Given the description of an element on the screen output the (x, y) to click on. 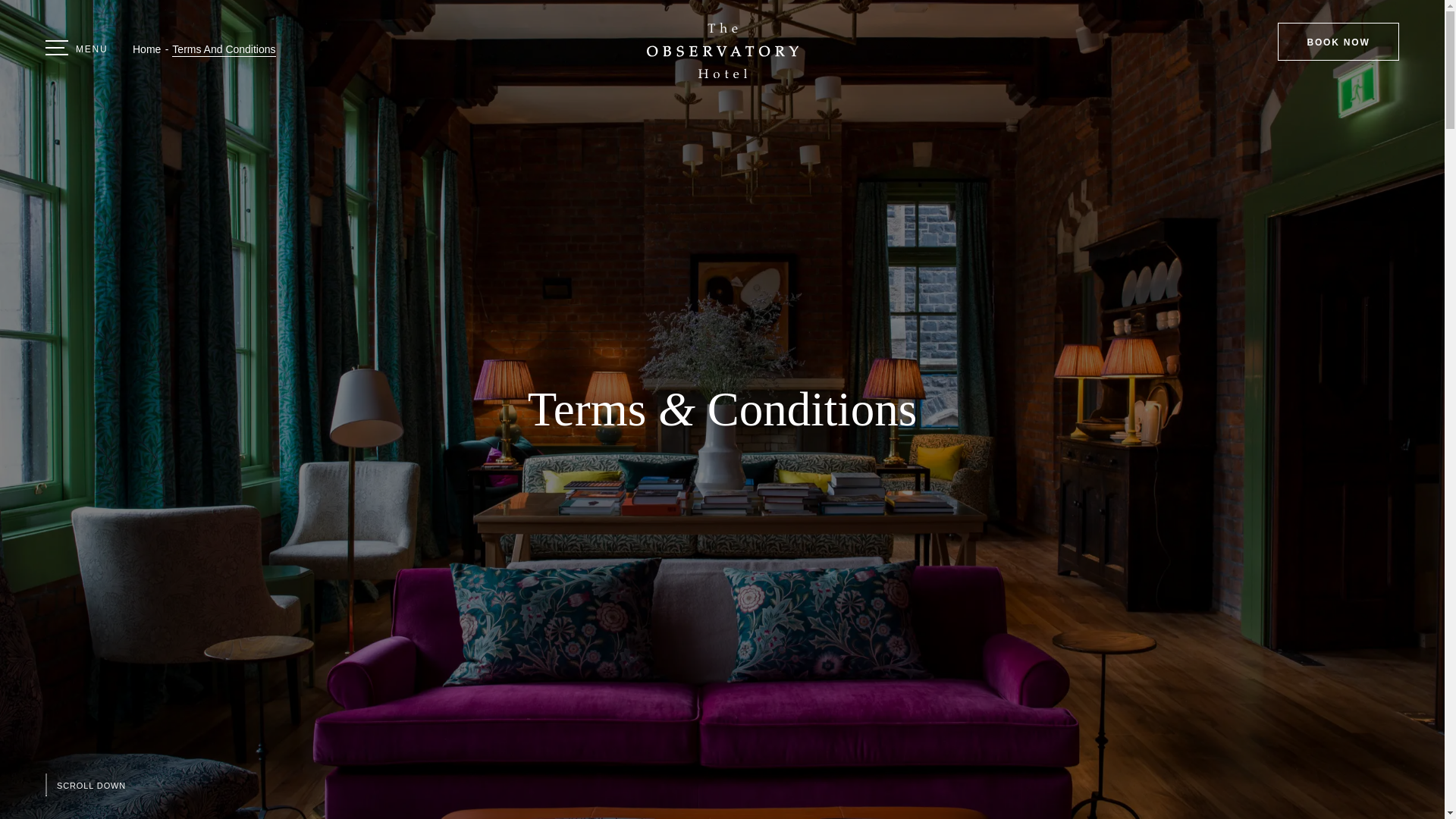
BOOK NOW (1338, 41)
SCROLL DOWN (85, 784)
Home (146, 49)
